Given the description of an element on the screen output the (x, y) to click on. 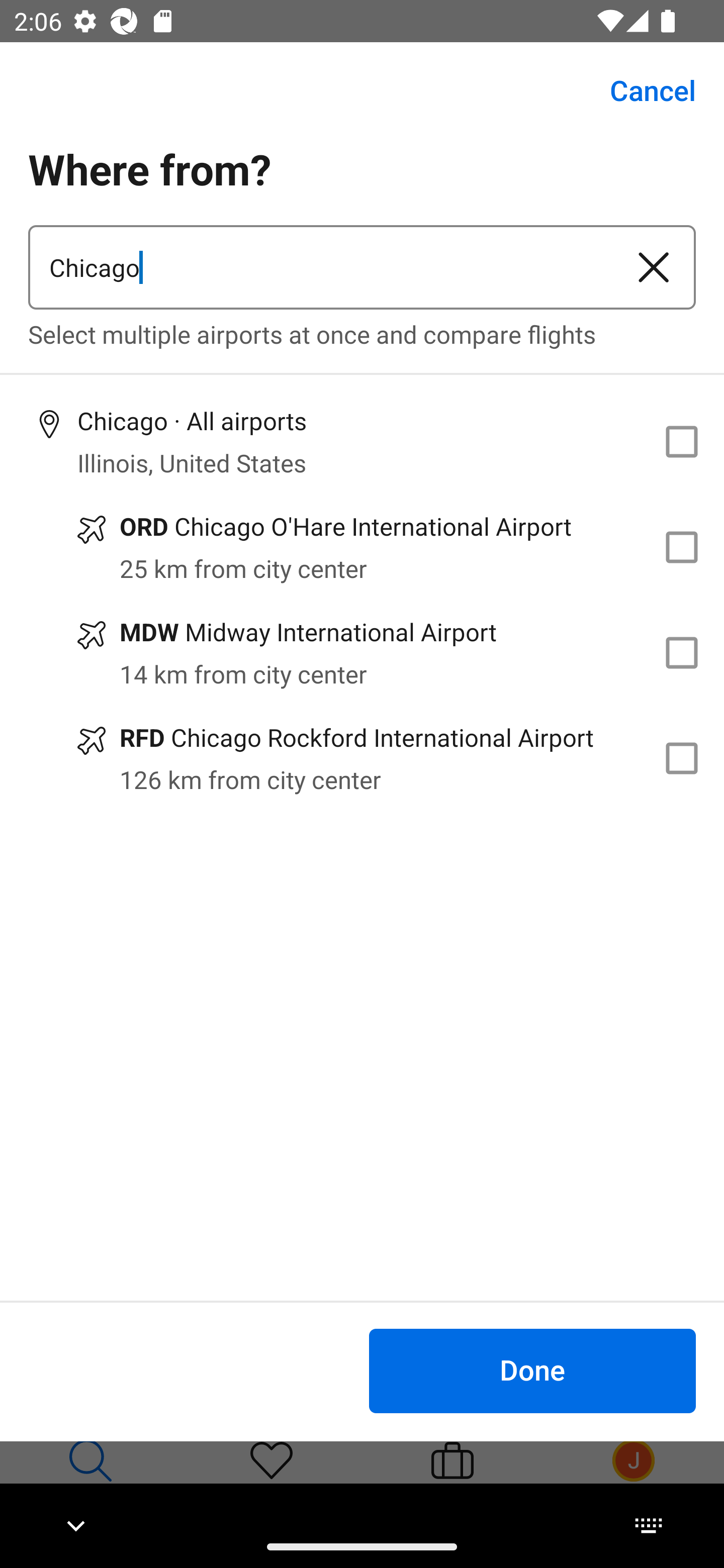
Cancel (641, 90)
Chicago (319, 266)
Clear airport or city (653, 266)
Chicago · All airports Illinois, United States (362, 440)
Done (532, 1370)
